Given the description of an element on the screen output the (x, y) to click on. 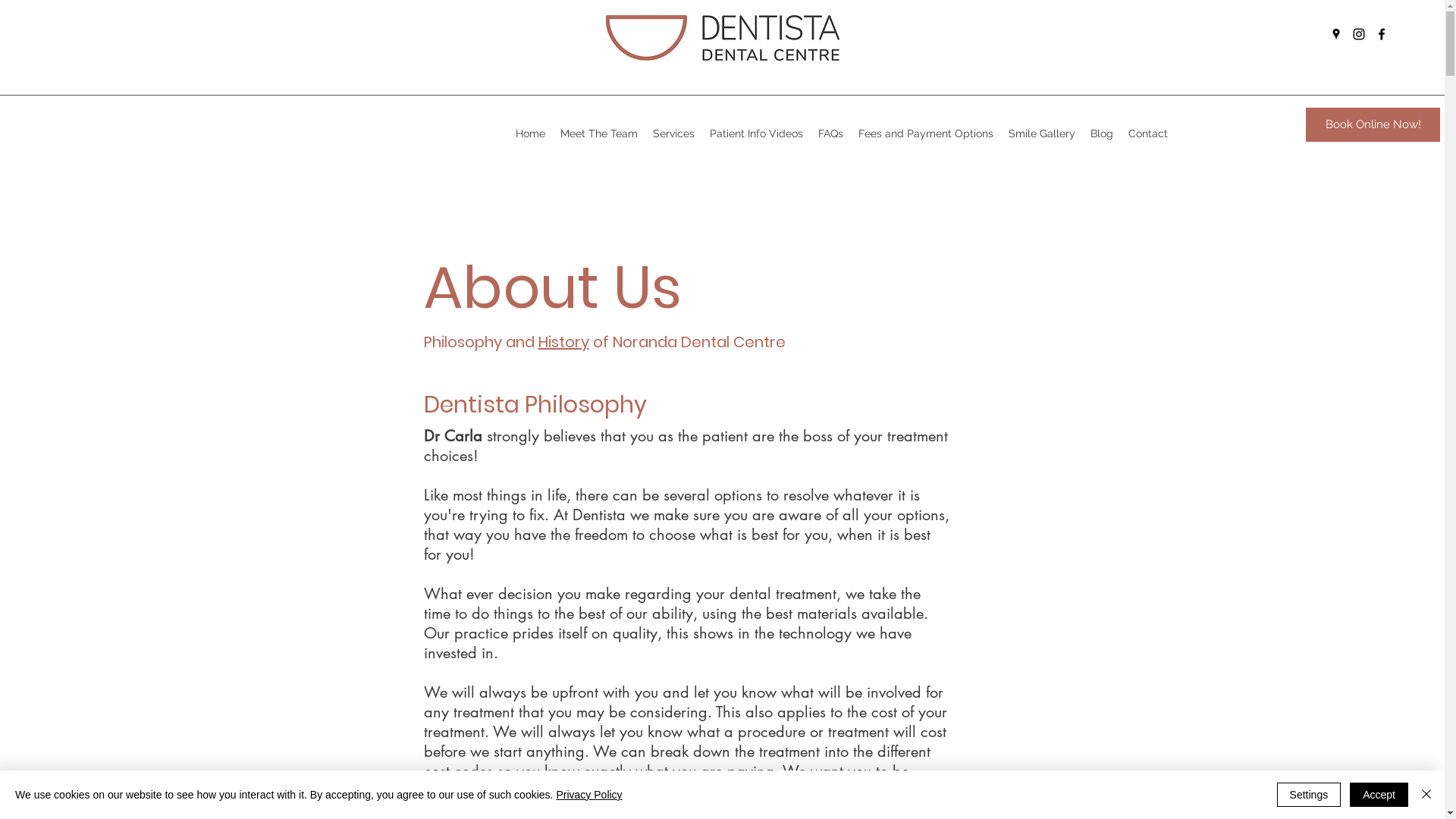
Settings Element type: text (1309, 794)
History Element type: text (563, 341)
Contact Element type: text (1147, 133)
Blog Element type: text (1101, 133)
Book Online Now! Element type: text (1372, 124)
Accept Element type: text (1378, 794)
FAQs Element type: text (830, 133)
Site Search Element type: hover (1205, 36)
cost codes Element type: text (457, 771)
Home Element type: text (530, 133)
Privacy Policy Element type: text (588, 794)
Smile Gallery Element type: text (1041, 133)
